Given the description of an element on the screen output the (x, y) to click on. 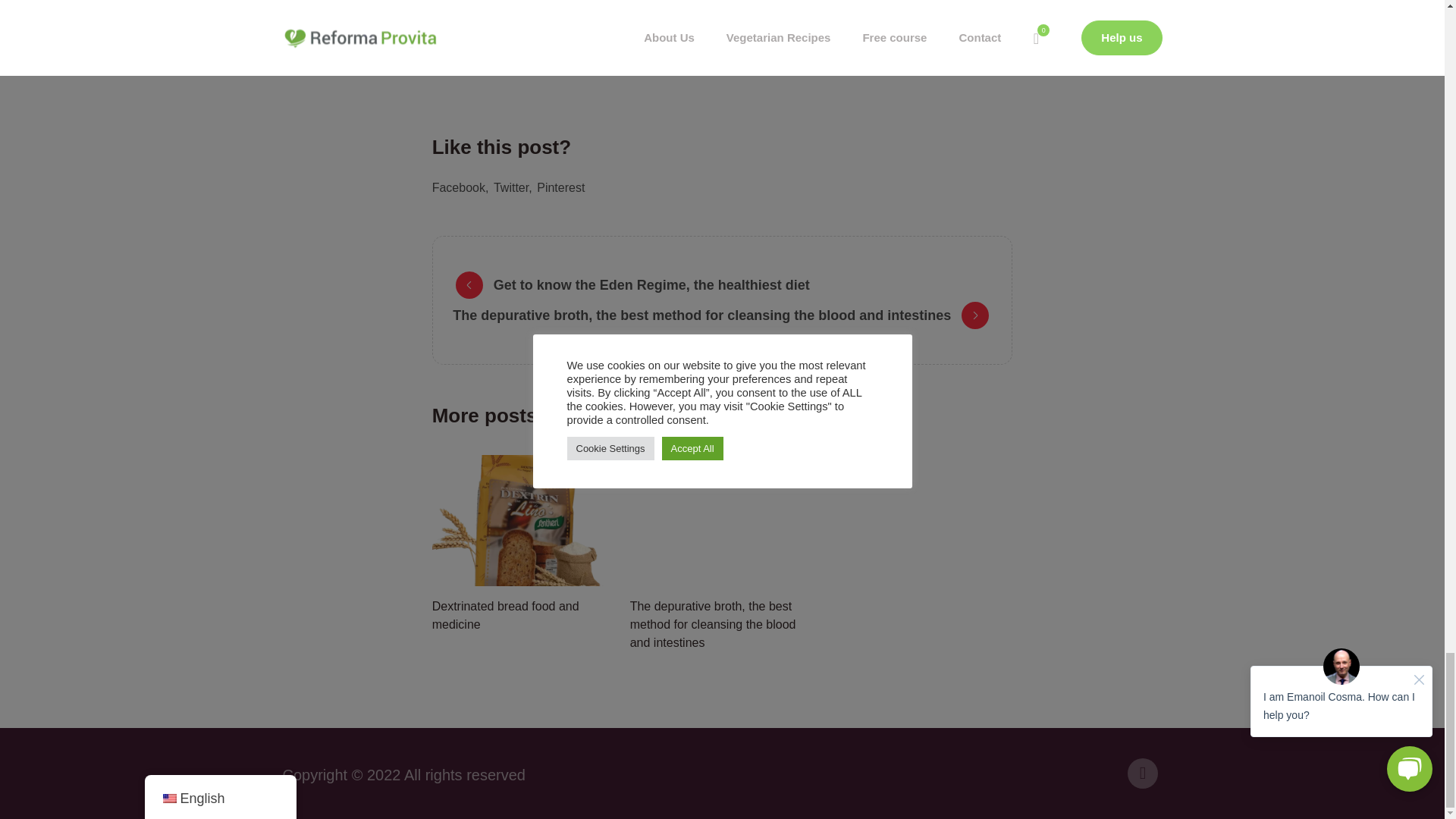
Dextrinated bread food and medicine (505, 614)
Get to know the Eden Regime, the healthiest diet (620, 285)
Facebook (460, 187)
Pinterest (561, 187)
Dextrinated bread food and medicine (524, 520)
Facebook (1141, 773)
Twitter (512, 187)
